Given the description of an element on the screen output the (x, y) to click on. 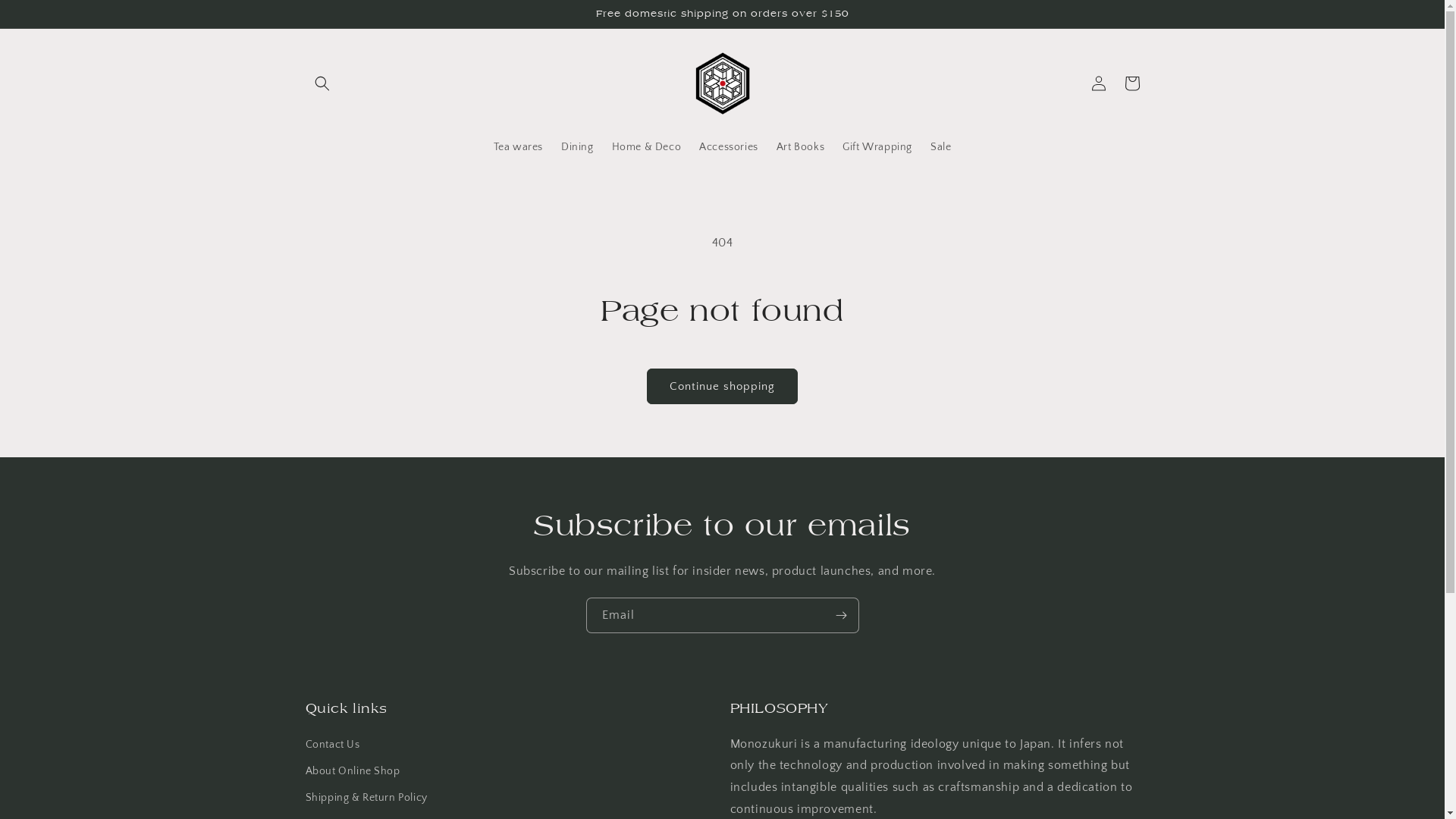
Continue shopping Element type: text (721, 386)
Cart Element type: text (1131, 83)
Tea wares Element type: text (518, 147)
Accessories Element type: text (728, 147)
Home & Deco Element type: text (646, 147)
Shipping & Return Policy Element type: text (365, 797)
Gift Wrapping Element type: text (877, 147)
Log in Element type: text (1097, 83)
About Online Shop Element type: text (351, 771)
Dining Element type: text (577, 147)
Contact Us Element type: text (331, 746)
Sale Element type: text (940, 147)
Art Books Element type: text (800, 147)
